Given the description of an element on the screen output the (x, y) to click on. 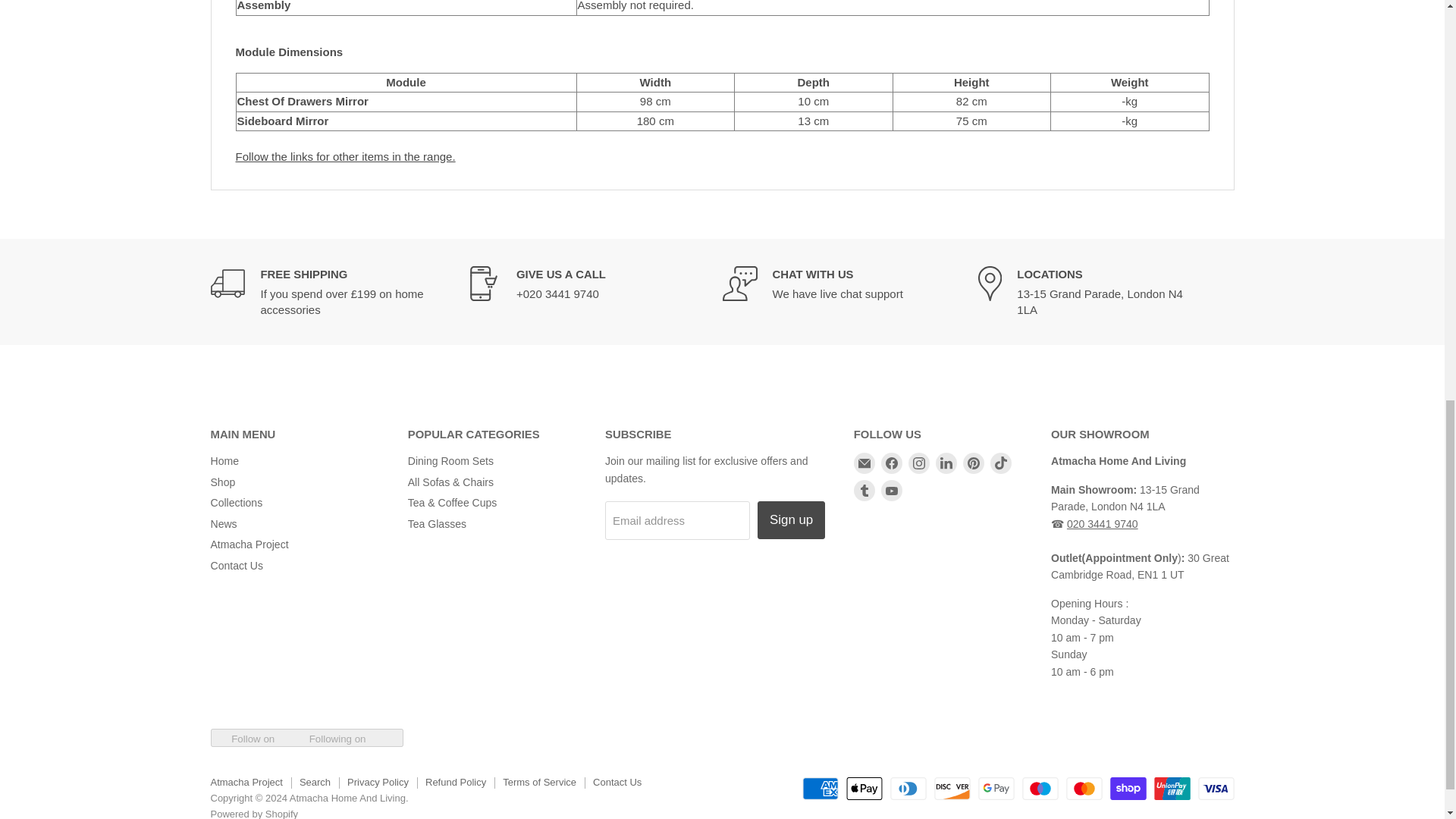
Pinterest (973, 463)
Instagram (919, 463)
Facebook (891, 463)
Email (864, 463)
TikTok (1000, 463)
YouTube (891, 490)
LinkedIn (946, 463)
Tumblr (864, 490)
